Given the description of an element on the screen output the (x, y) to click on. 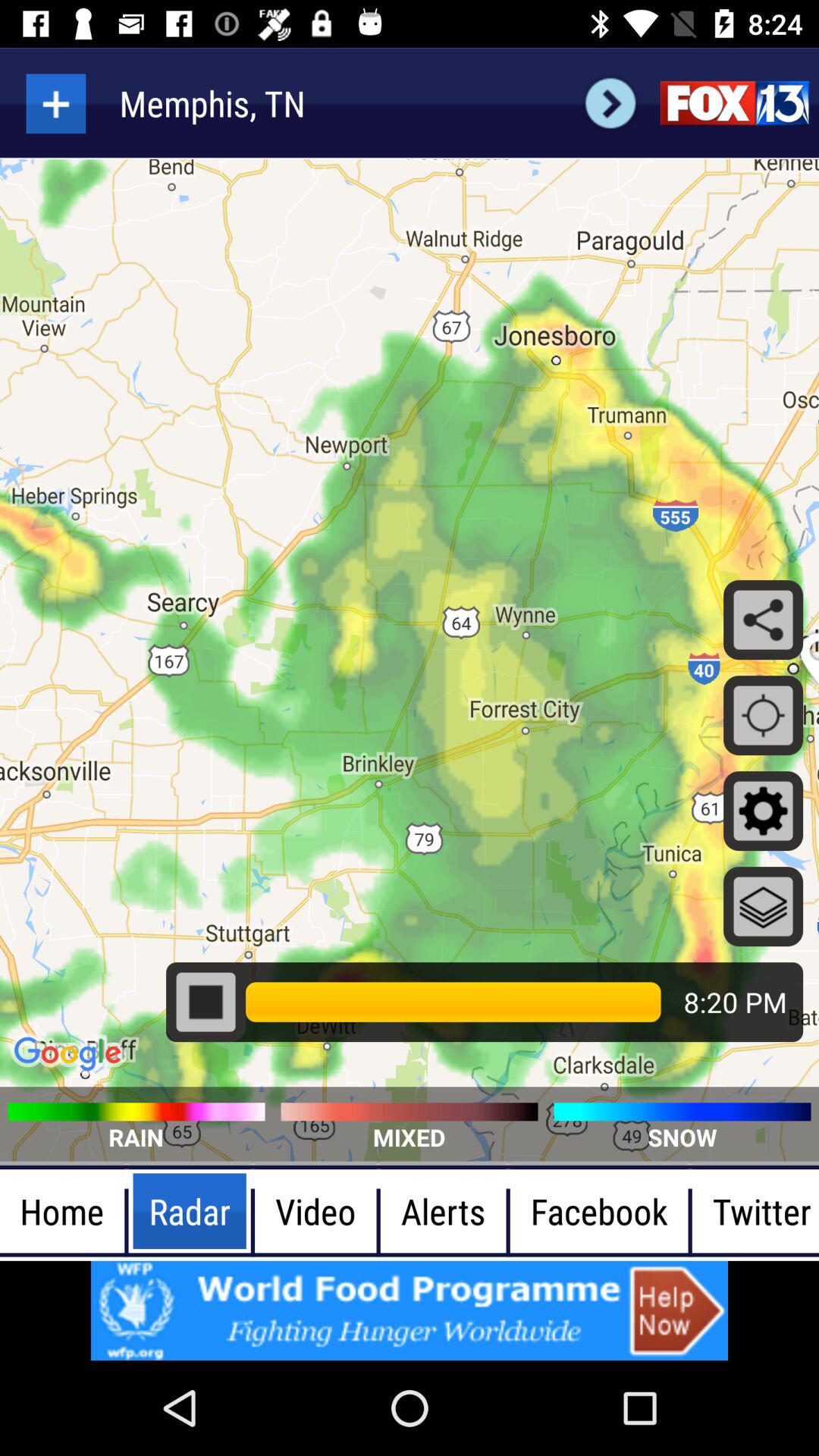
select the checkbox on the web page (205, 1002)
click on the settings symbol at the right side of the page (763, 810)
